Given the description of an element on the screen output the (x, y) to click on. 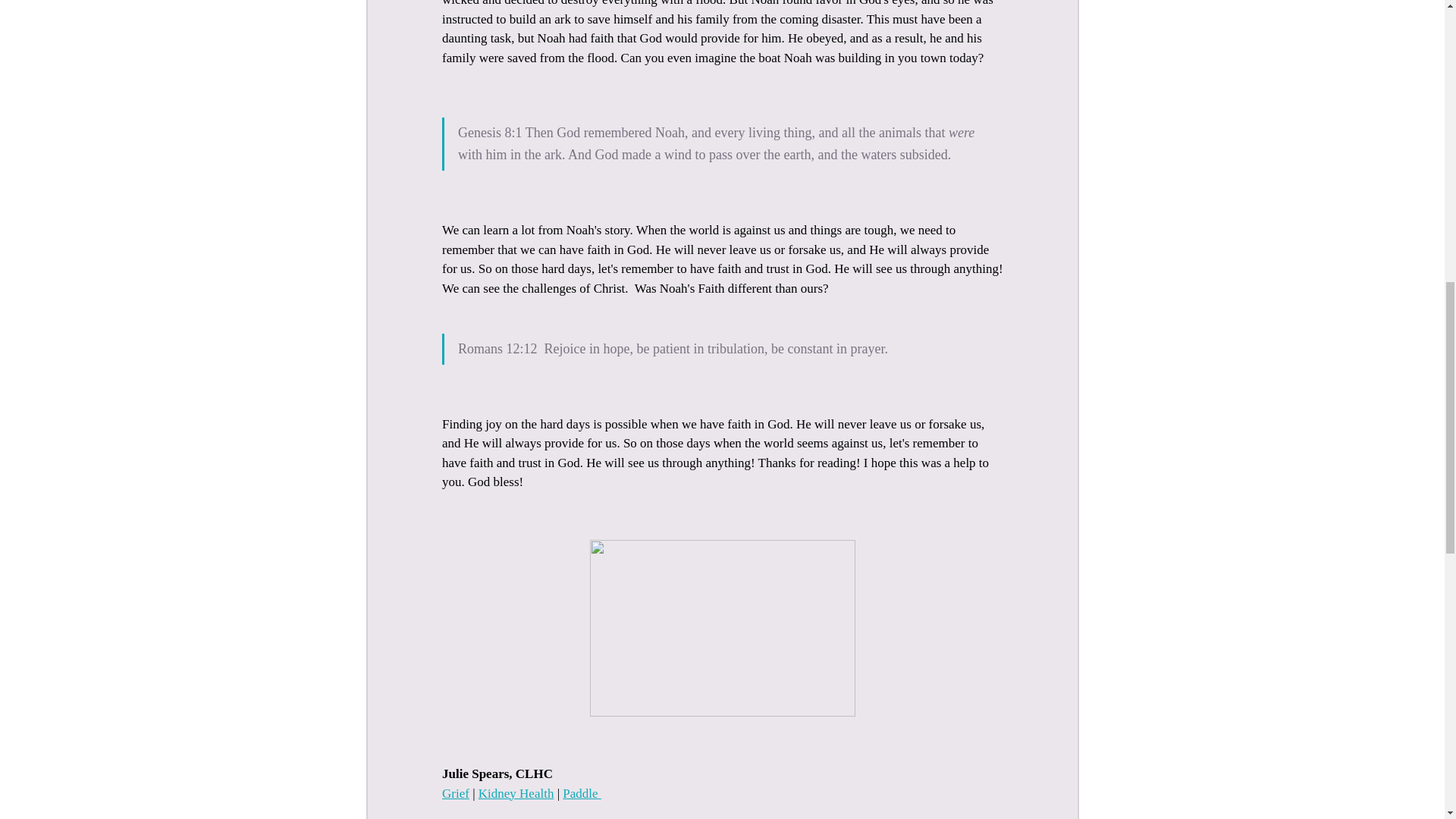
Grief (454, 793)
Paddle  (581, 793)
Kidney Health (515, 793)
